Given the description of an element on the screen output the (x, y) to click on. 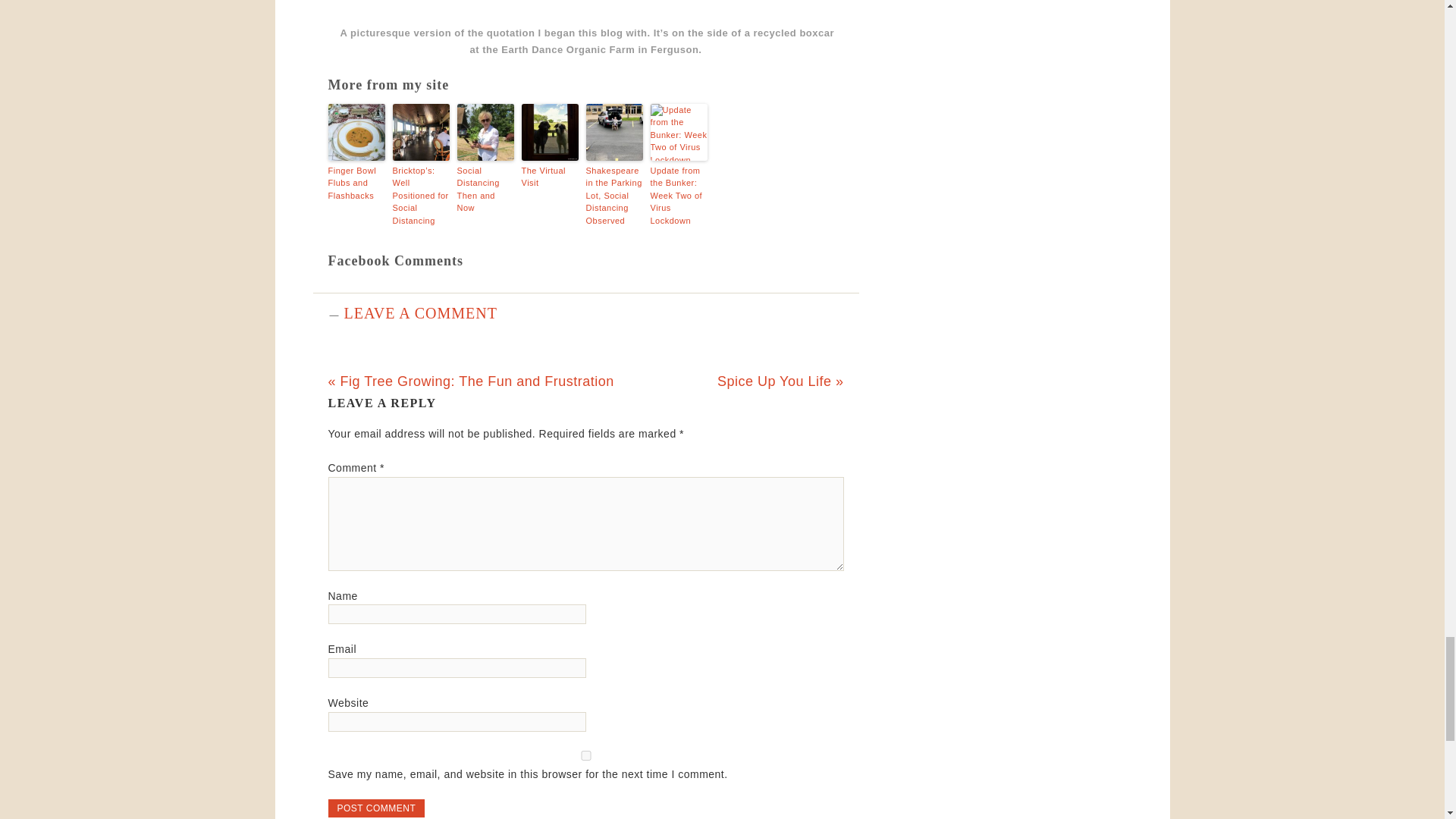
The Virtual Visit (549, 176)
Finger Bowl Flubs and Flashbacks (355, 183)
Social Distancing Then and Now (485, 189)
Post Comment (376, 808)
yes (585, 755)
